Given the description of an element on the screen output the (x, y) to click on. 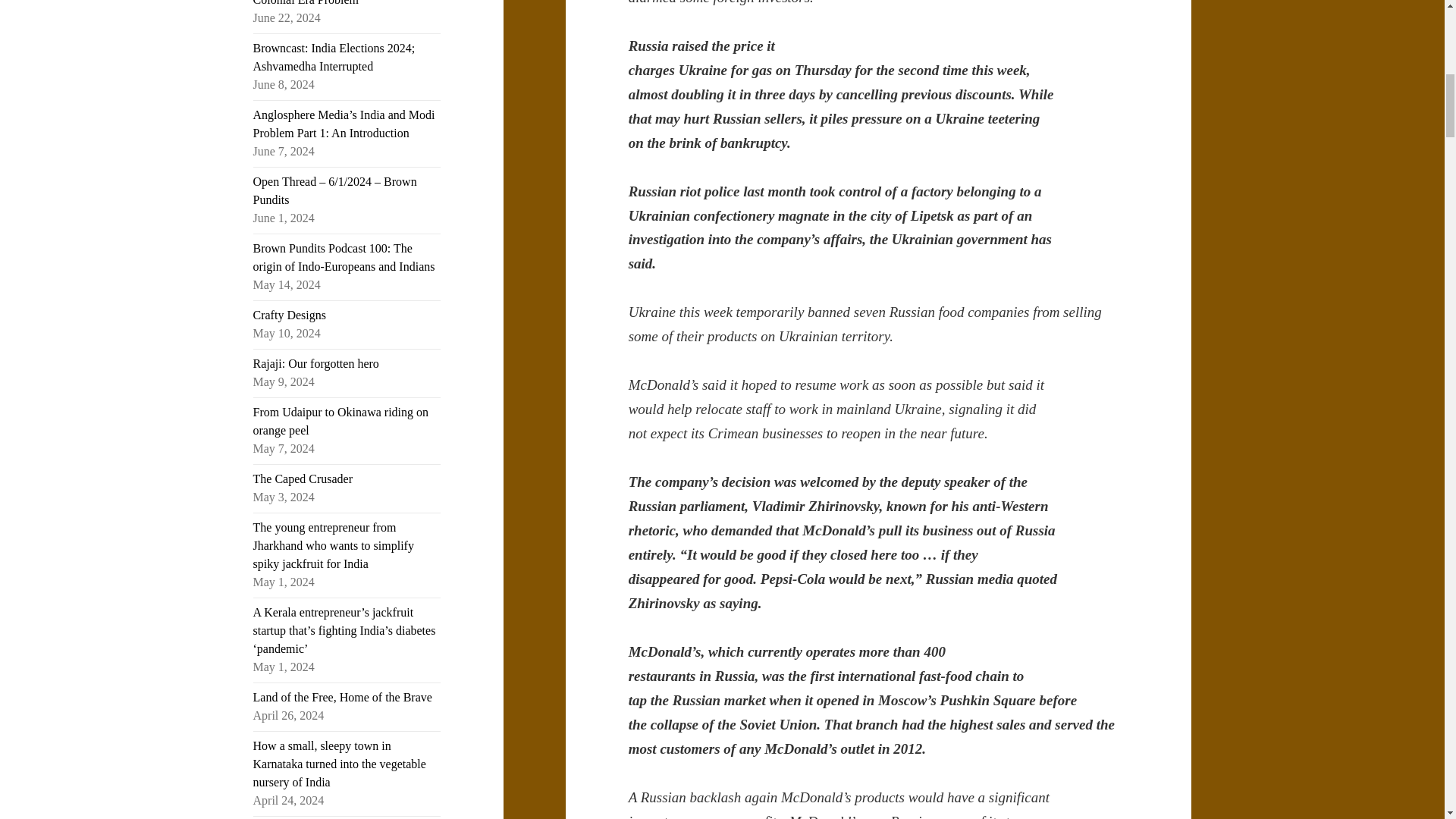
Crafty Designs (289, 314)
Browncast: India Elections 2024; Ashvamedha Interrupted (333, 56)
Rajaji: Our forgotten hero (315, 363)
The Caped Crusader (303, 478)
From Udaipur to Okinawa riding on orange peel (341, 420)
Blasphemy in Pakistan; NOT a Colonial Era Problem (328, 2)
Land of the Free, Home of the Brave (342, 697)
